Given the description of an element on the screen output the (x, y) to click on. 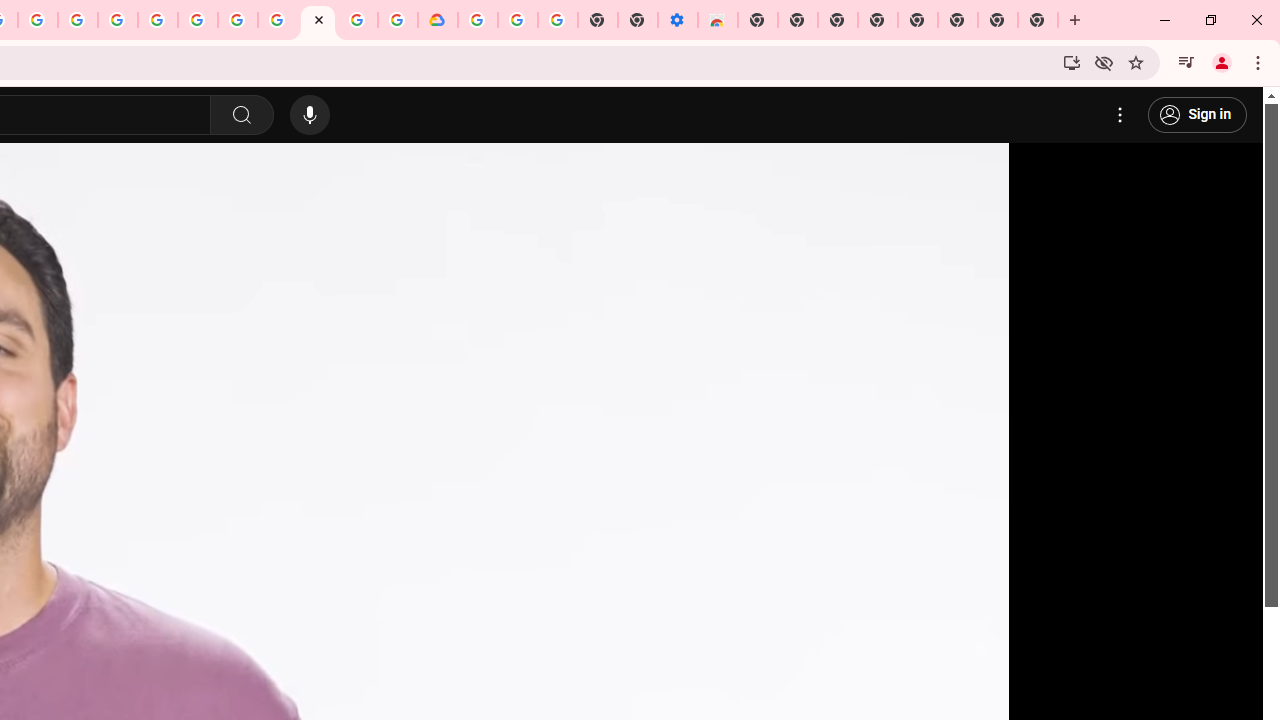
Google Account Help (517, 20)
Android TV Policies and Guidelines - Transparency Center (278, 20)
Sign in - Google Accounts (477, 20)
Create your Google Account (357, 20)
Turn cookies on or off - Computer - Google Account Help (557, 20)
Create your Google Account (37, 20)
Search with your voice (309, 115)
Google Account Help (237, 20)
Sign in - Google Accounts (157, 20)
